Given the description of an element on the screen output the (x, y) to click on. 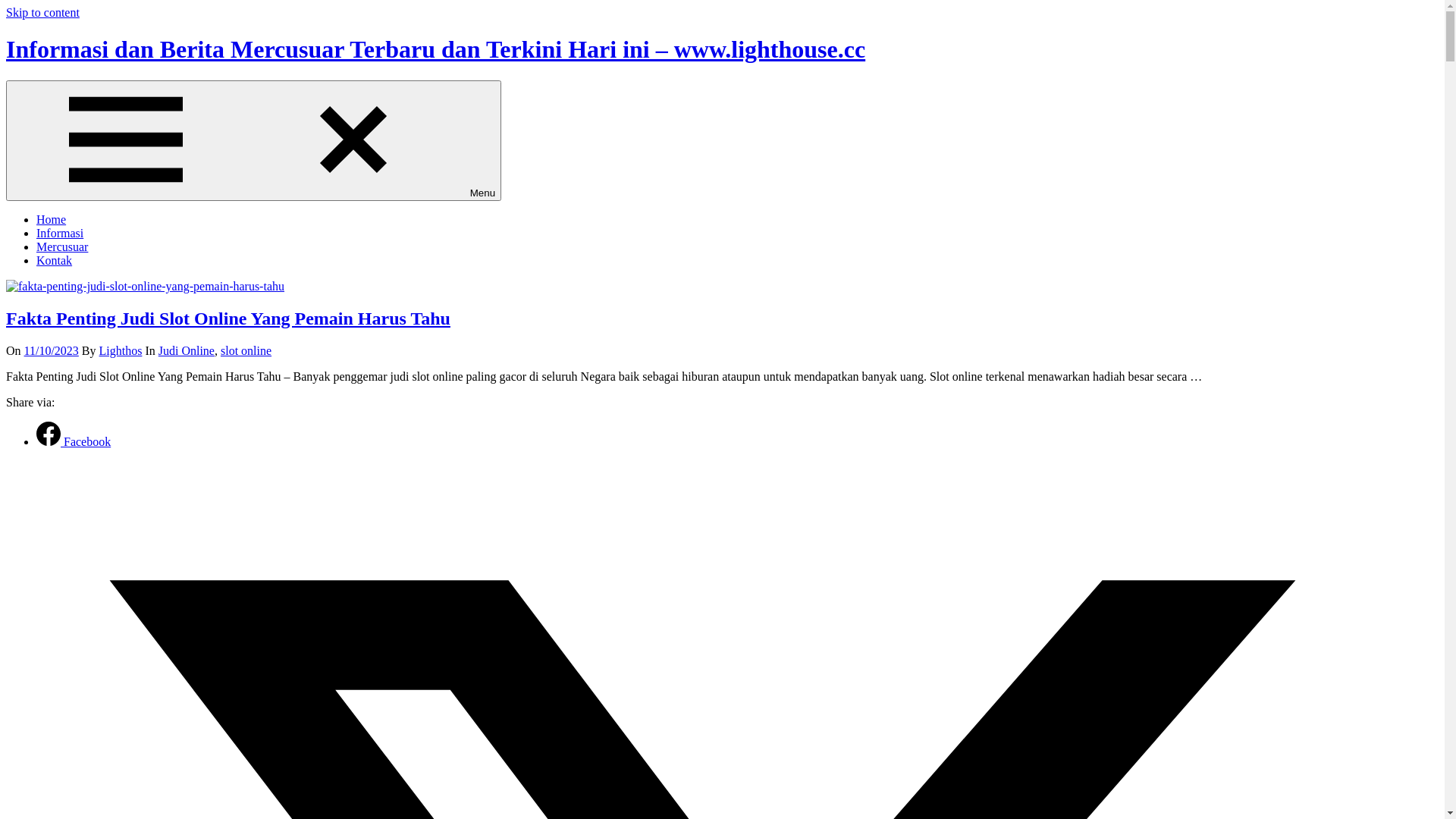
Informasi Element type: text (59, 232)
Fakta Penting Judi Slot Online Yang Pemain Harus Tahu Element type: text (228, 318)
Lighthos Element type: text (120, 350)
11/10/2023 Element type: text (51, 350)
Facebook Element type: text (73, 441)
Judi Online Element type: text (186, 350)
slot online Element type: text (245, 350)
Mercusuar Element type: text (61, 246)
Kontak Element type: text (54, 260)
Menu Element type: text (253, 140)
Skip to content Element type: text (42, 12)
Home Element type: text (50, 219)
